Given the description of an element on the screen output the (x, y) to click on. 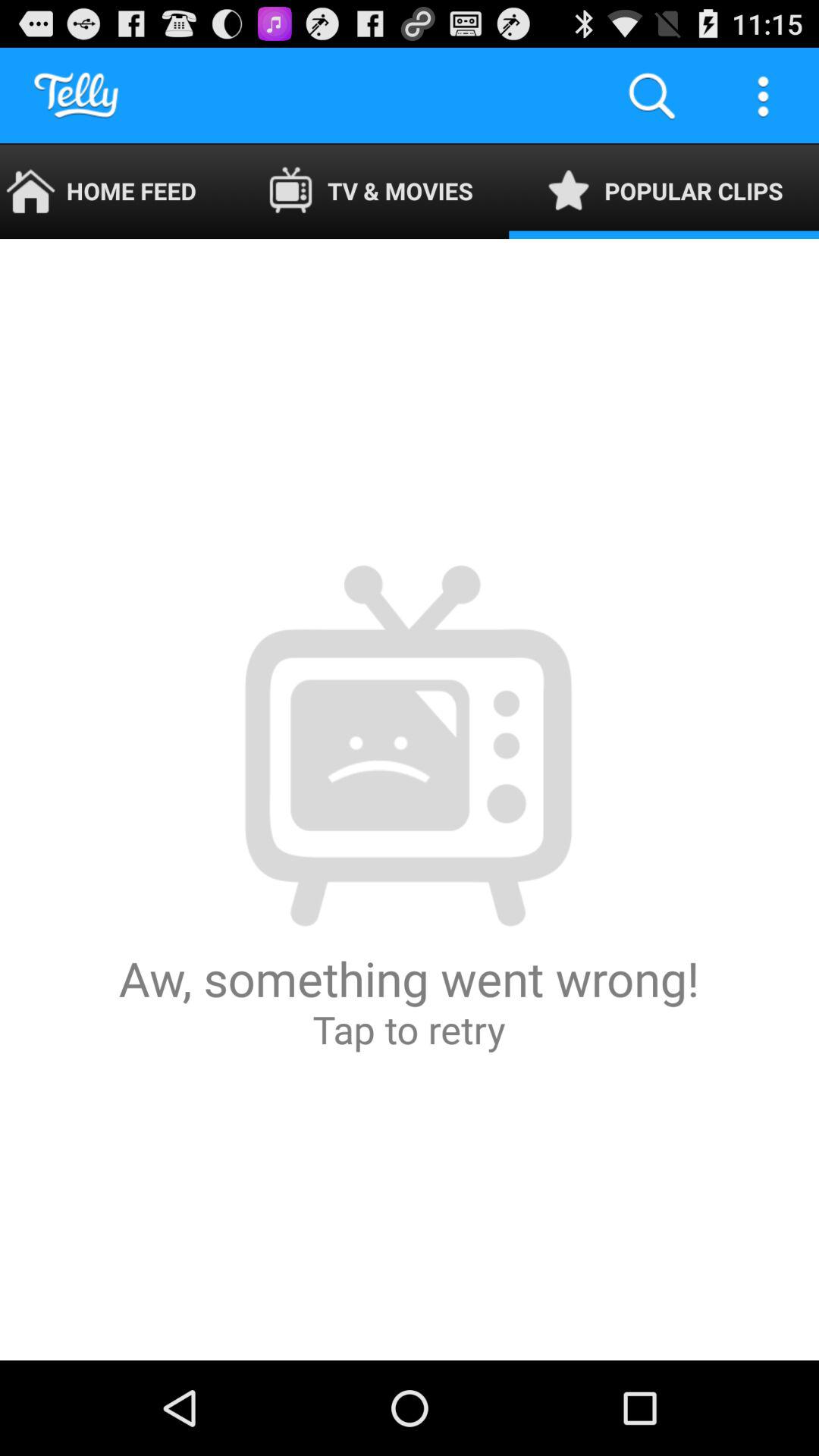
turn off the icon above the popular clips item (763, 95)
